Given the description of an element on the screen output the (x, y) to click on. 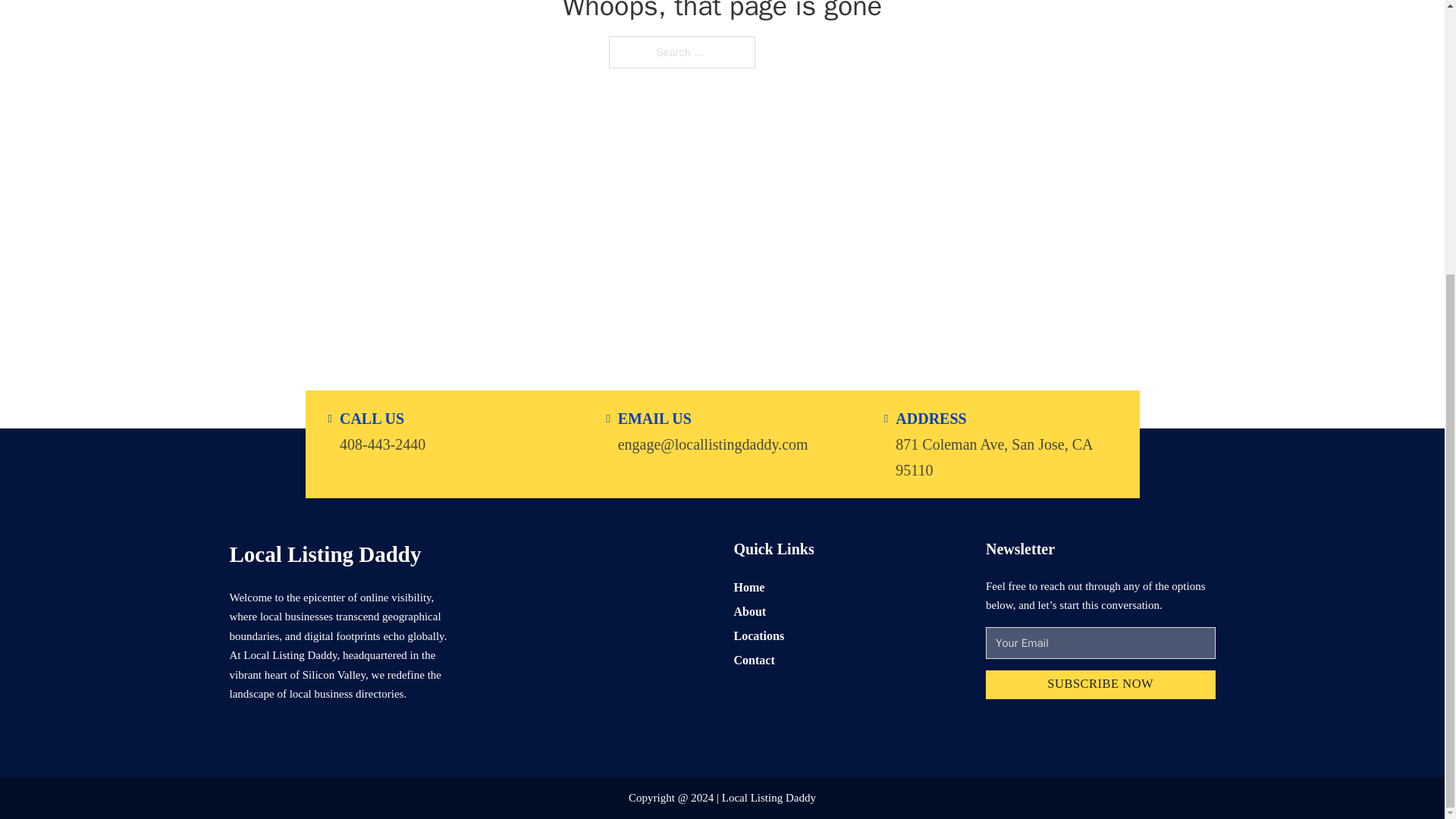
Contact (753, 660)
Locations (758, 635)
About (750, 611)
Home (749, 586)
SUBSCRIBE NOW (1100, 685)
Local Listing Daddy (324, 553)
408-443-2440 (382, 443)
